Given the description of an element on the screen output the (x, y) to click on. 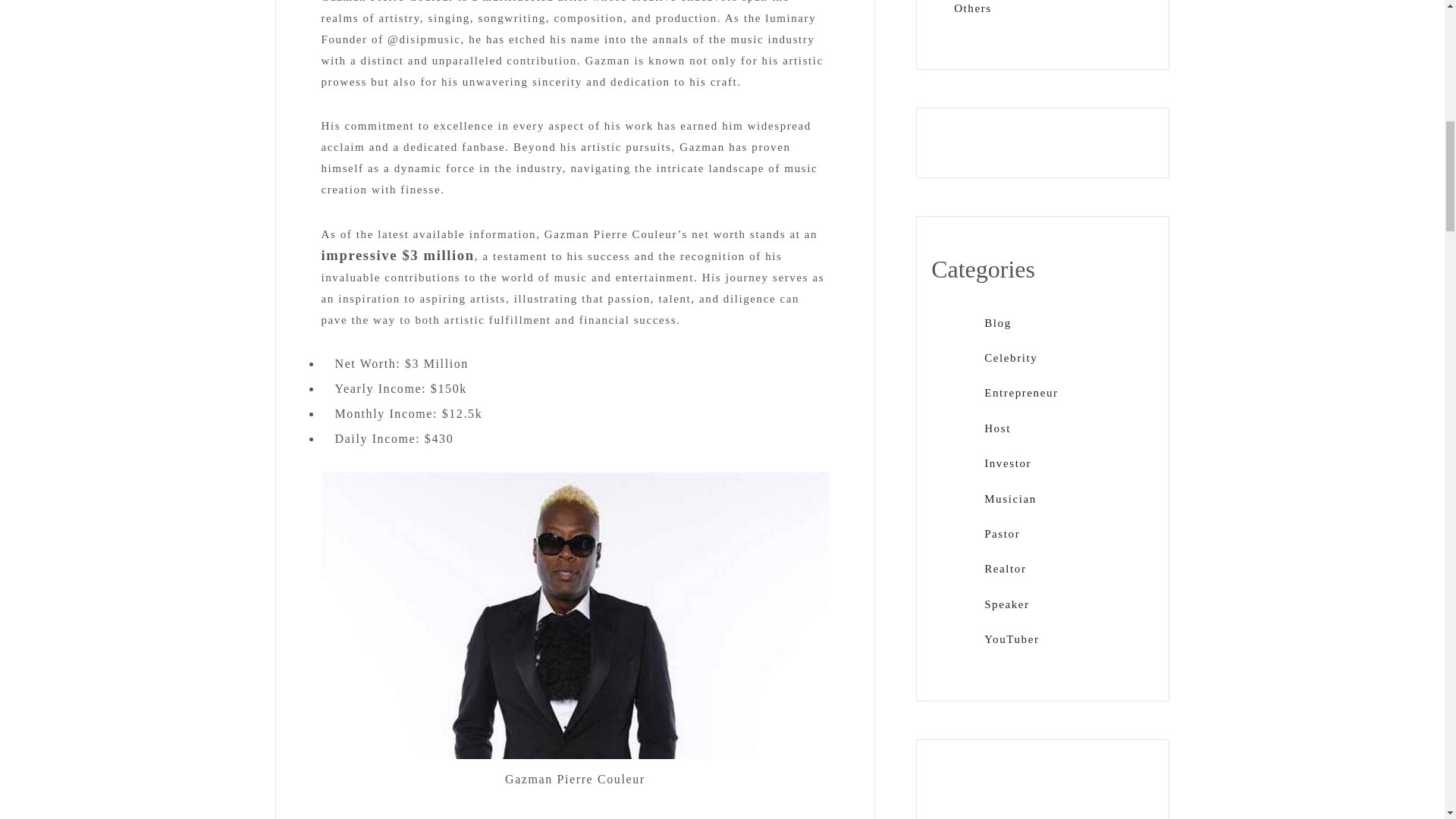
Speaker (1006, 604)
Host (997, 428)
Entrepreneur (1021, 392)
Investor (1007, 463)
Blog (997, 322)
YouTuber (1011, 639)
Pastor (1002, 533)
Musician (1010, 499)
Realtor (1005, 568)
Celebrity (1010, 357)
